Given the description of an element on the screen output the (x, y) to click on. 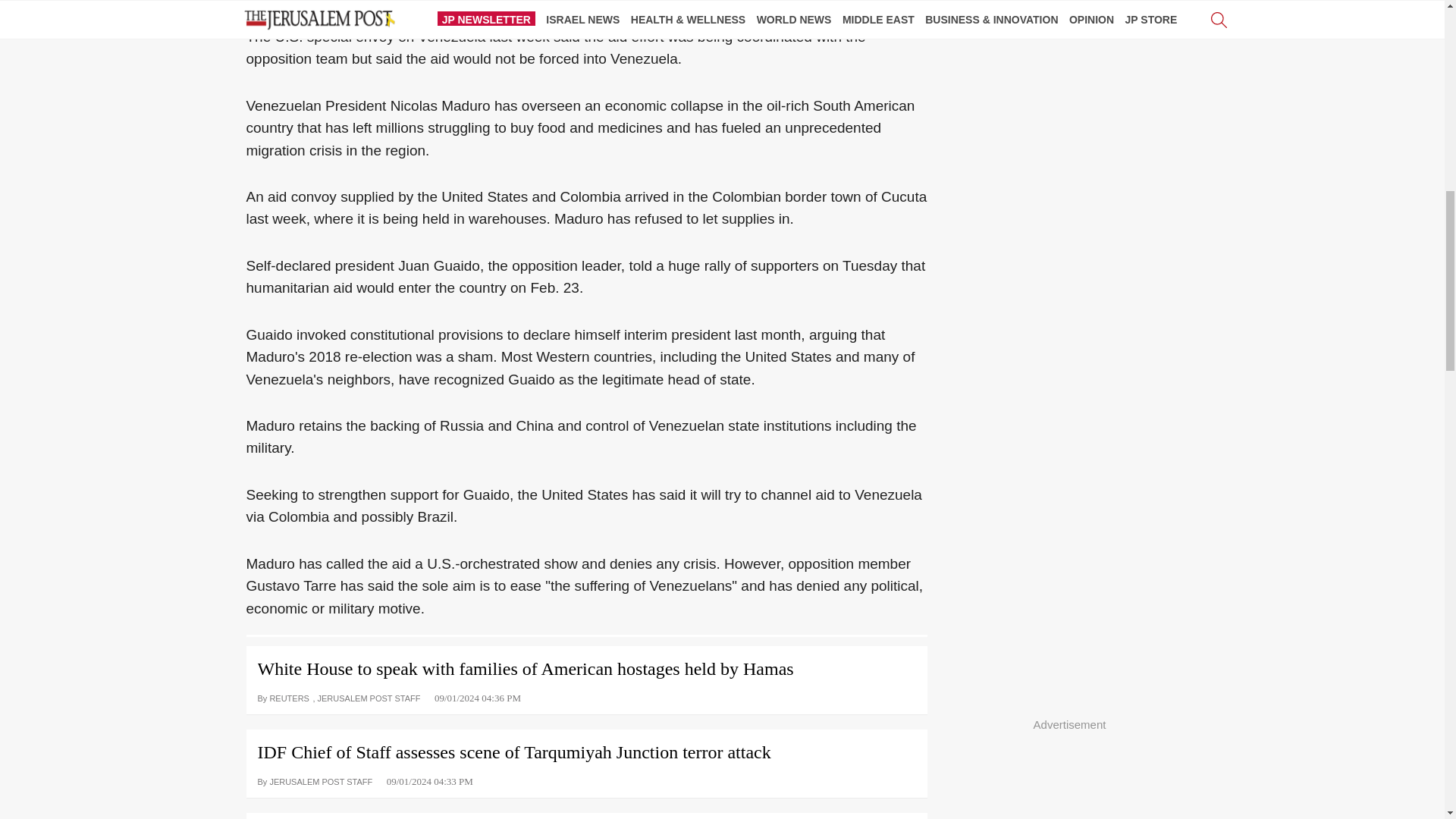
By REUTERS (285, 697)
, JERUSALEM POST STAFF (366, 697)
By JERUSALEM POST STAFF (314, 780)
